Given the description of an element on the screen output the (x, y) to click on. 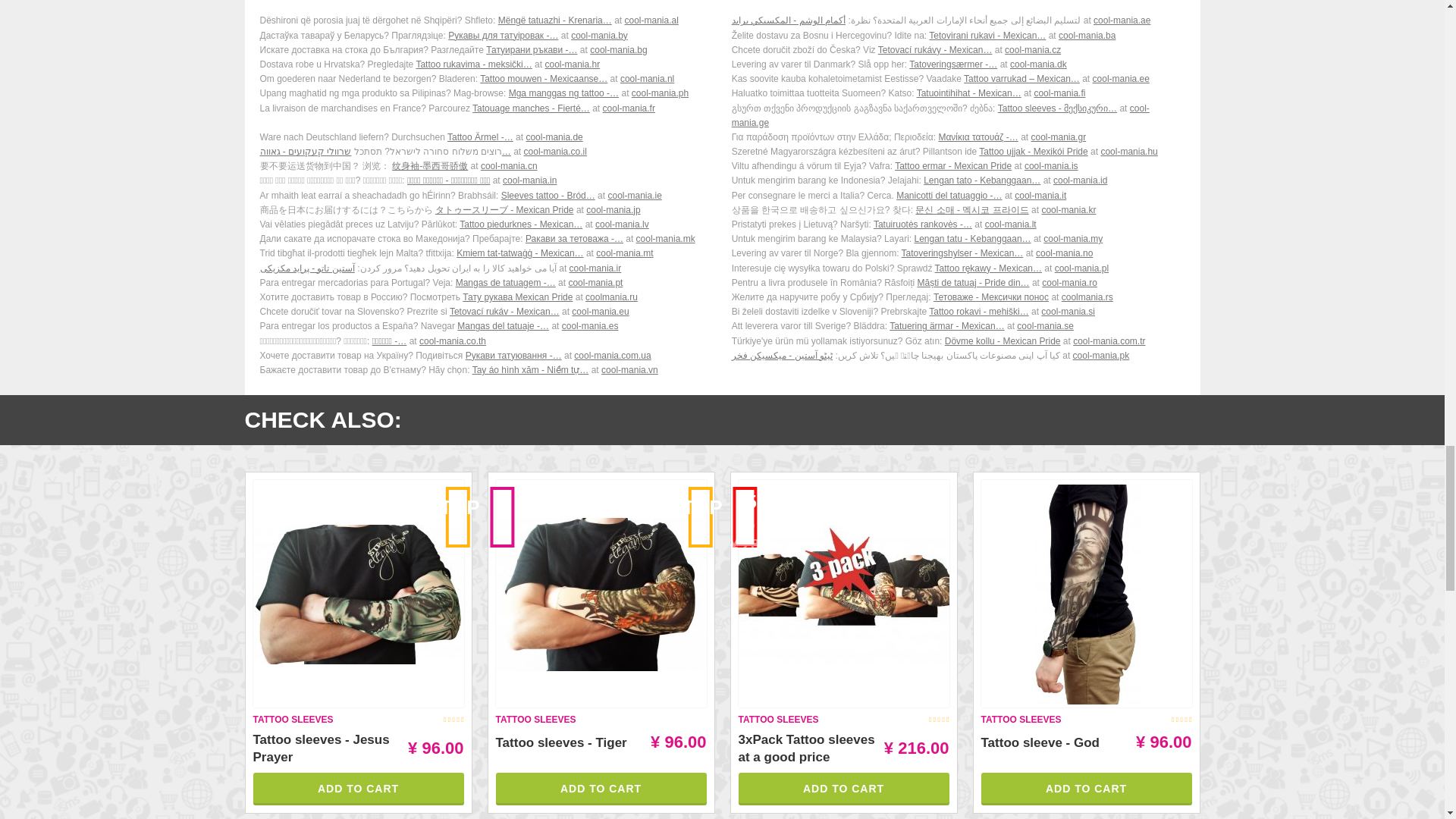
To deliver goods worldwide? Browse: (486, 35)
To deliver goods worldwide? Browse: (958, 50)
To deliver goods worldwide? Browse: (486, 20)
To deliver goods worldwide? Browse: (958, 20)
To deliver goods worldwide? Browse: (958, 93)
cool-mania.cz (1032, 50)
To deliver goods worldwide? Browse: (486, 108)
To deliver goods worldwide? Browse: (486, 151)
To deliver goods worldwide? Browse: (958, 151)
cool-mania.by (598, 35)
